Given the description of an element on the screen output the (x, y) to click on. 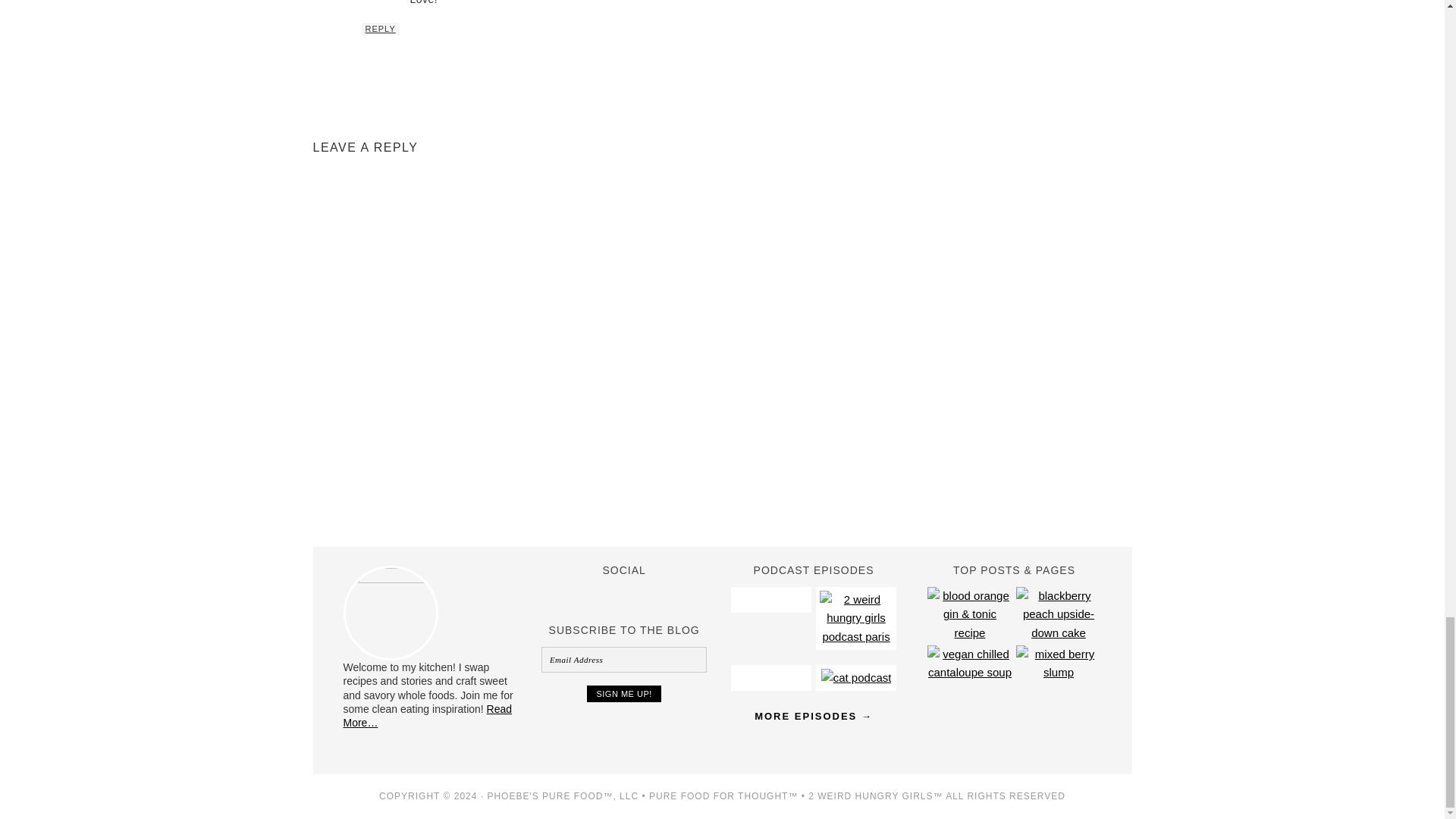
Sign me up! (623, 693)
baking fails podcast (855, 635)
